Given the description of an element on the screen output the (x, y) to click on. 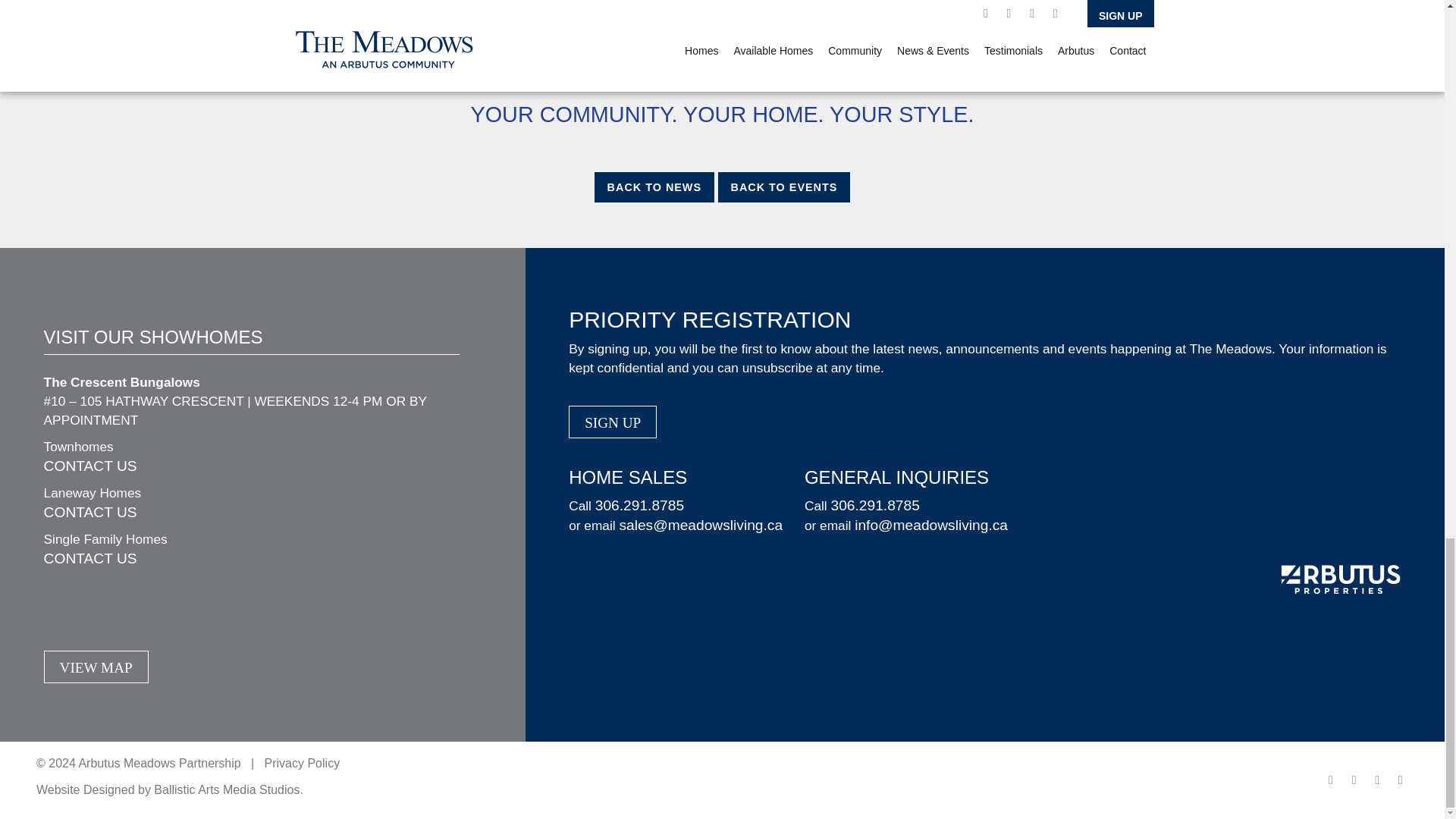
306.291.8785 (873, 505)
Ballistic Arts Media Studios (226, 789)
CONTACT US (89, 558)
VIEW MAP (95, 666)
Privacy Policy (302, 762)
BACK TO NEWS (654, 186)
BACK TO EVENTS (783, 186)
SIGN UP (612, 421)
CONTACT US (89, 512)
306.291.8785 (639, 505)
CONTACT US (89, 465)
